Given the description of an element on the screen output the (x, y) to click on. 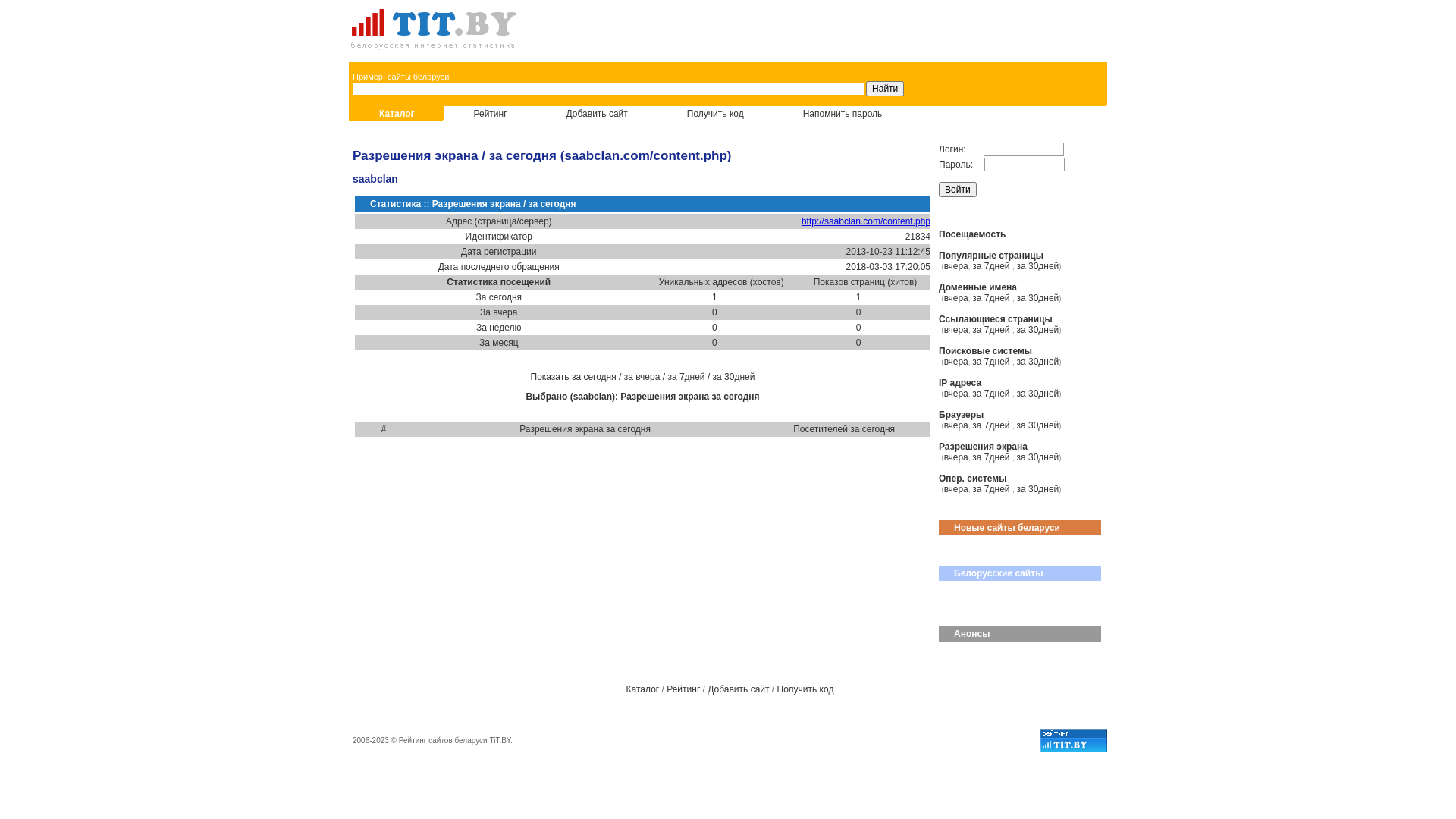
http://saabclan.com/content.php Element type: text (865, 221)
